Given the description of an element on the screen output the (x, y) to click on. 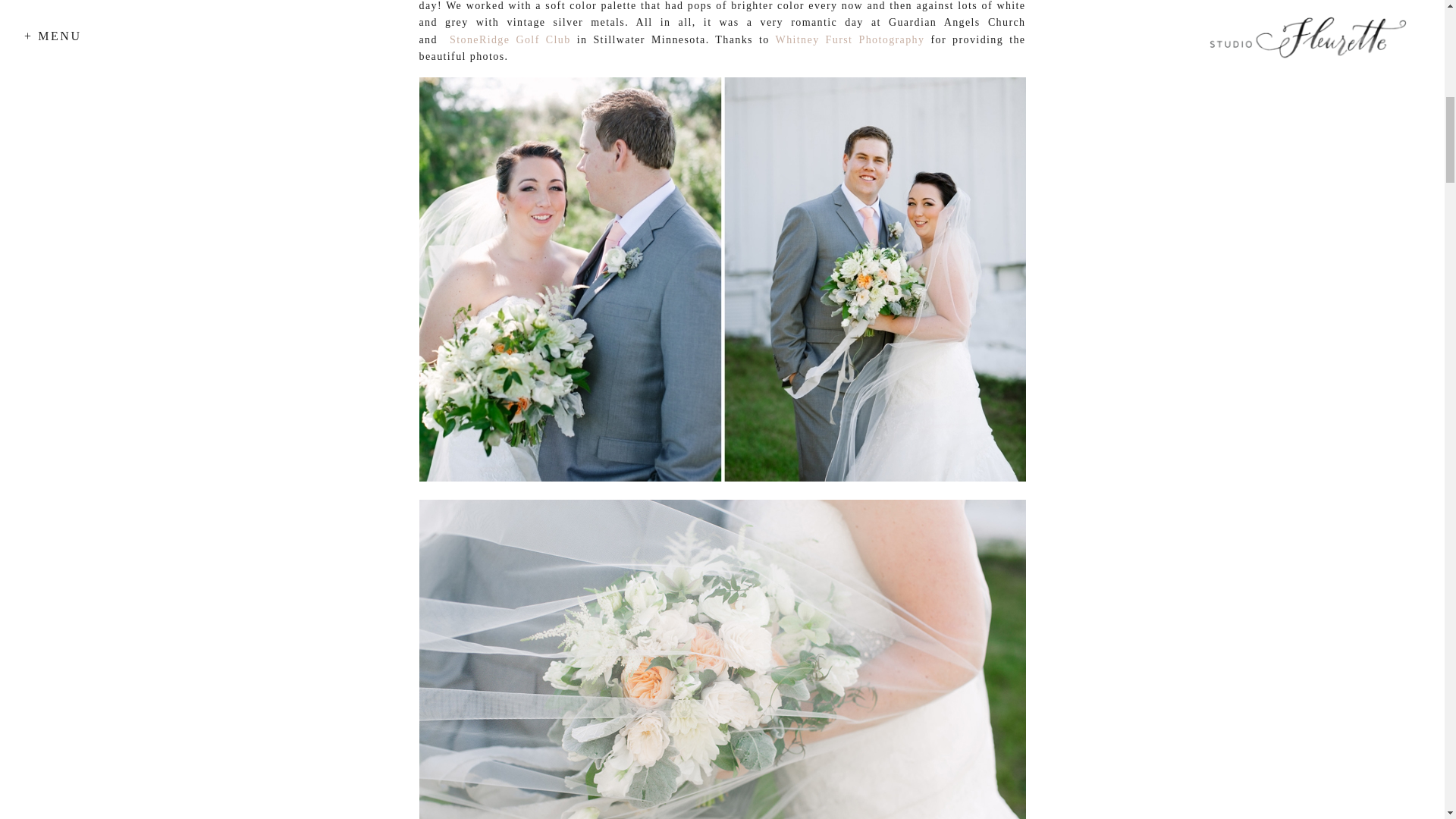
StoneRidge Golf Club (509, 39)
Whitney Furst Photography (850, 39)
